Given the description of an element on the screen output the (x, y) to click on. 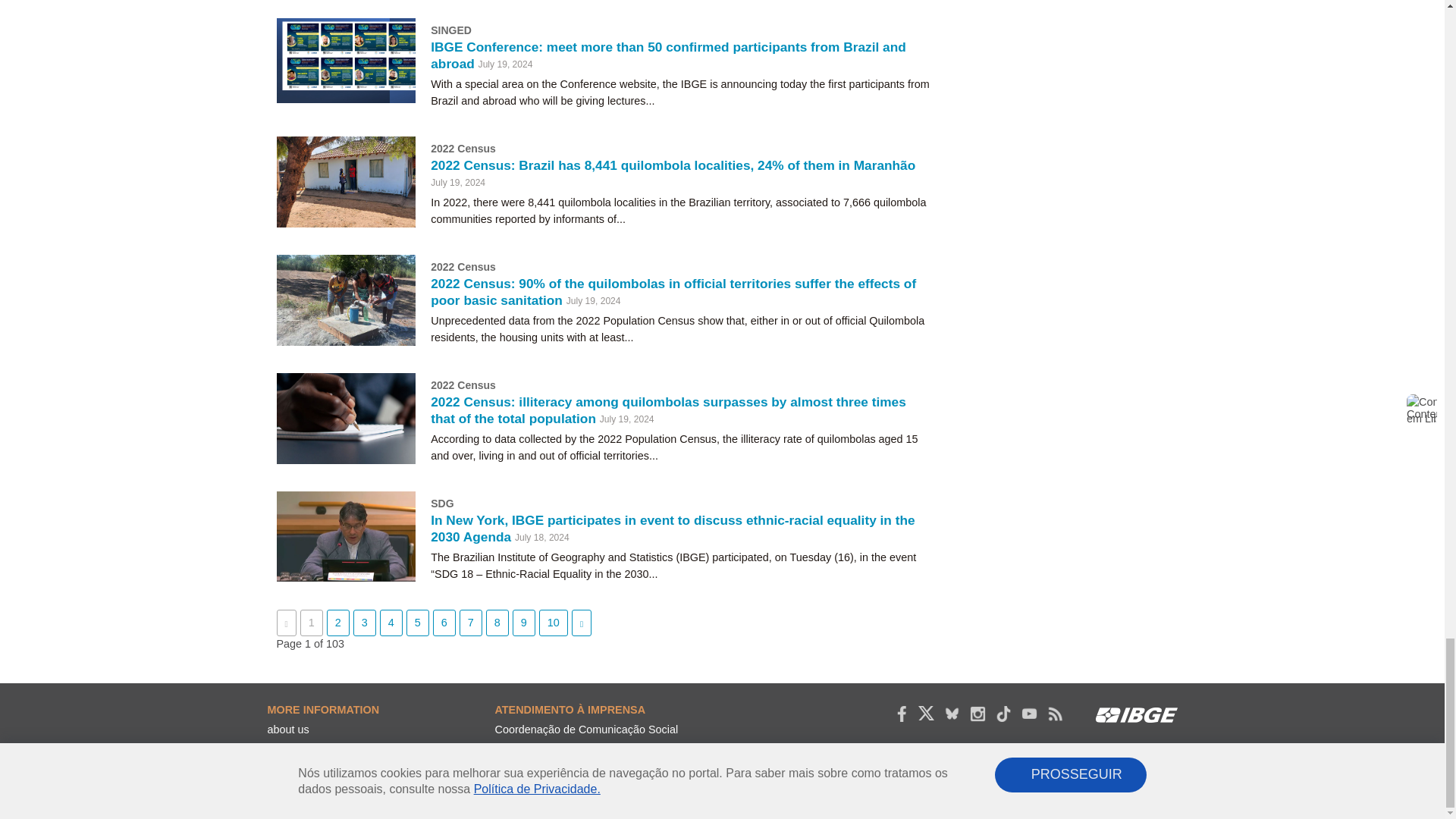
Twitter (925, 713)
